Given the description of an element on the screen output the (x, y) to click on. 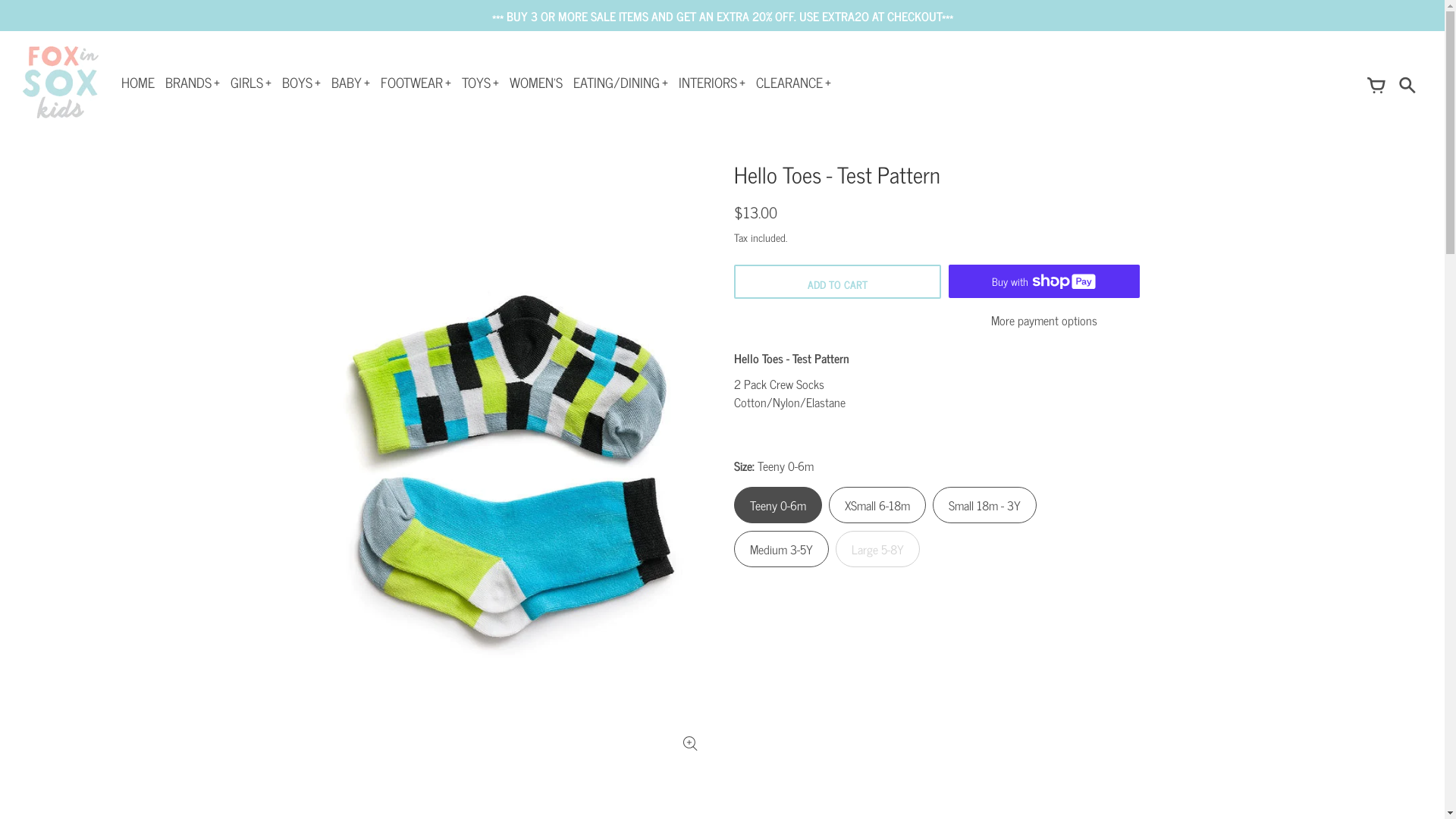
TOYS Element type: text (479, 81)
WOMEN'S Element type: text (535, 82)
CLEARANCE Element type: text (793, 81)
HOME Element type: text (137, 82)
BOYS Element type: text (301, 81)
BRANDS Element type: text (192, 81)
More payment options Element type: text (1043, 319)
ADD TO CART Element type: text (837, 281)
FOOTWEAR Element type: text (415, 81)
INTERIORS Element type: text (711, 81)
GIRLS Element type: text (250, 81)
BABY Element type: text (350, 81)
EATING/DINING Element type: text (620, 81)
